Given the description of an element on the screen output the (x, y) to click on. 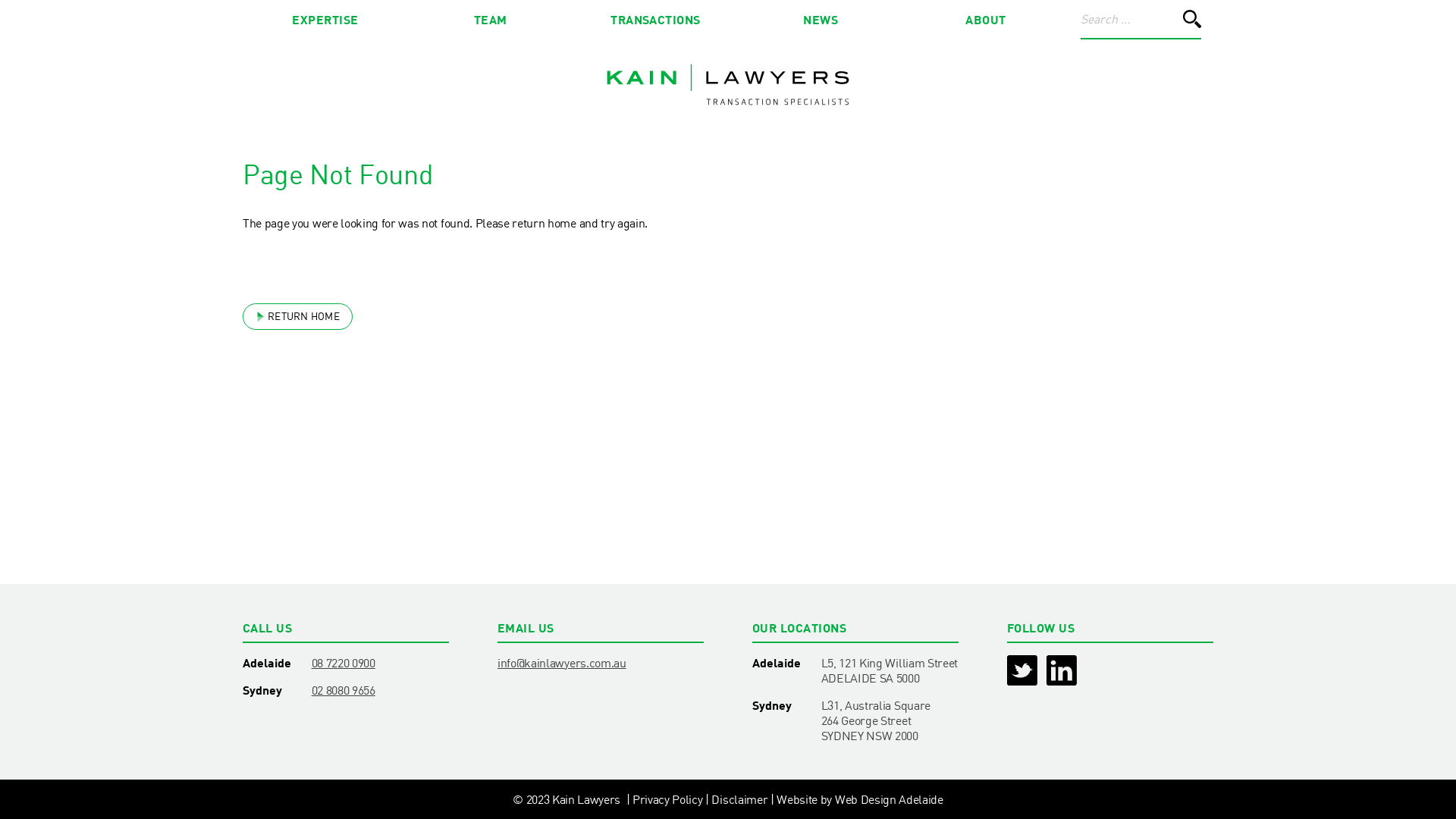
TEAM Element type: text (490, 19)
EXPERTISE Element type: text (324, 19)
TRANSACTIONS Element type: text (655, 19)
NEWS Element type: text (820, 19)
L31, Australia Square
264 George Street
SYDNEY NSW 2000 Element type: text (889, 720)
Privacy Policy Element type: text (667, 798)
ABOUT Element type: text (985, 19)
L5, 121 King William Street
ADELAIDE SA 5000 Element type: text (889, 670)
Kain Lawyers Linkedin Element type: hover (1062, 671)
08 7220 0900 Element type: text (379, 662)
info@kainlawyers.com.au Element type: text (565, 662)
02 8080 9656 Element type: text (379, 689)
Web Design Adelaide Element type: text (888, 798)
Kain Lawyers Twitter Element type: hover (1023, 671)
Disclaimer Element type: text (739, 798)
RETURN HOME Element type: text (297, 316)
